Given the description of an element on the screen output the (x, y) to click on. 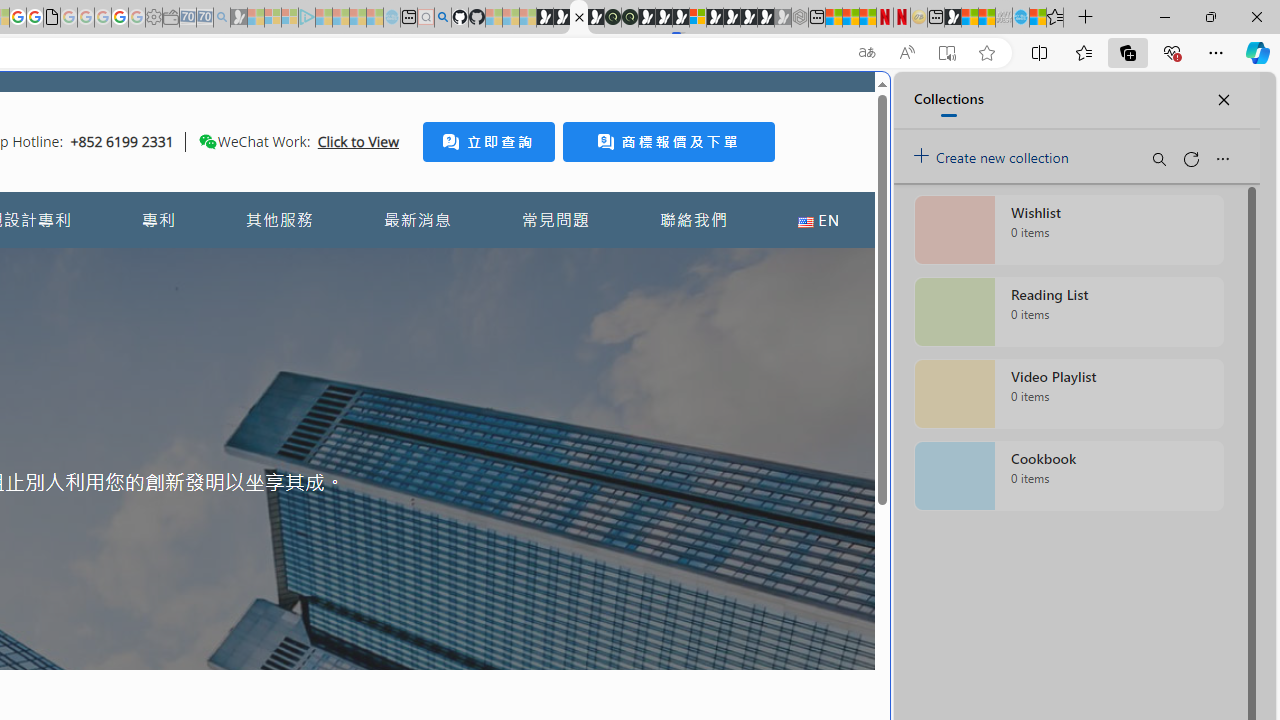
Sign in to your account (697, 17)
Tabs you've opened (276, 265)
